Given the description of an element on the screen output the (x, y) to click on. 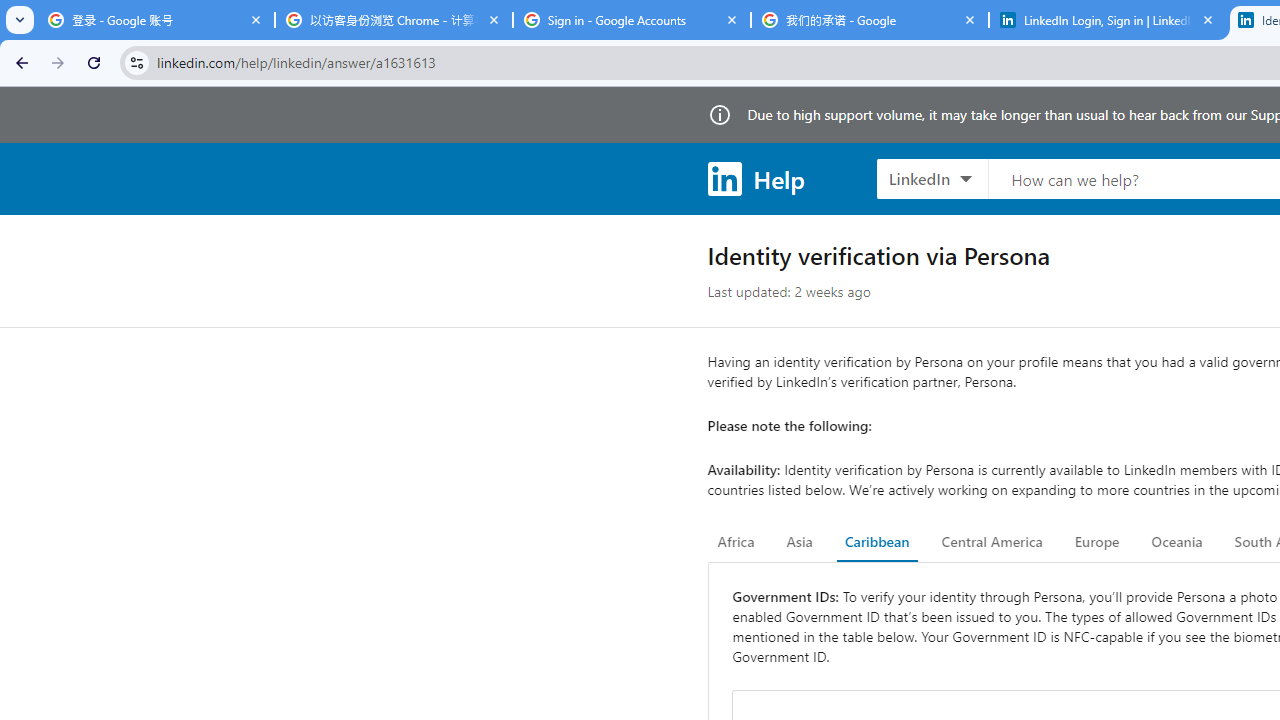
Asia (799, 542)
